Given the description of an element on the screen output the (x, y) to click on. 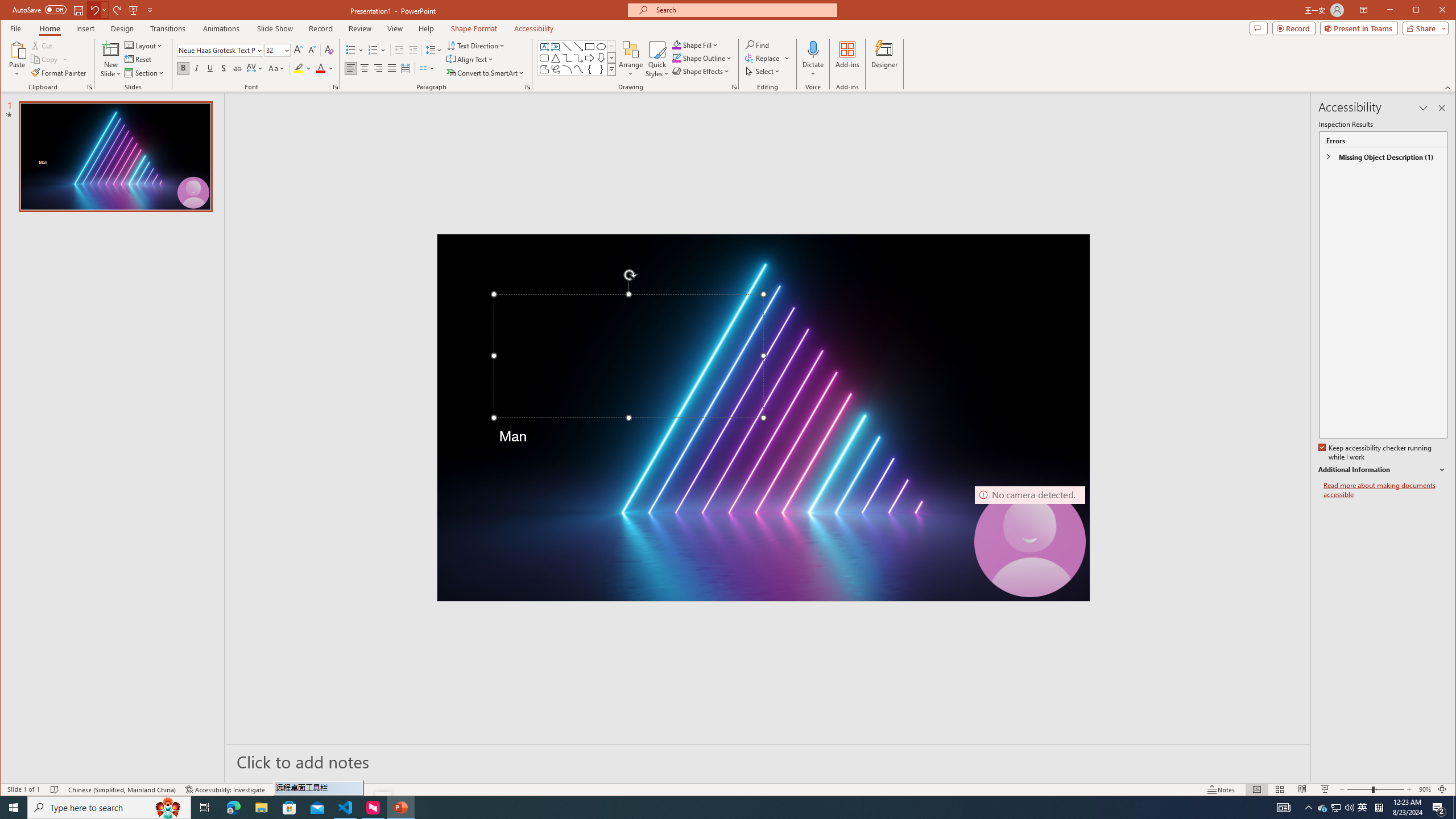
Notification Chevron (1308, 807)
Shape Outline (702, 57)
Increase Font Size (297, 49)
Type here to search (108, 807)
Zoom 90% (1424, 789)
Maximize (1432, 11)
Align Text (470, 59)
Copy (49, 59)
Line Arrow (577, 46)
